Given the description of an element on the screen output the (x, y) to click on. 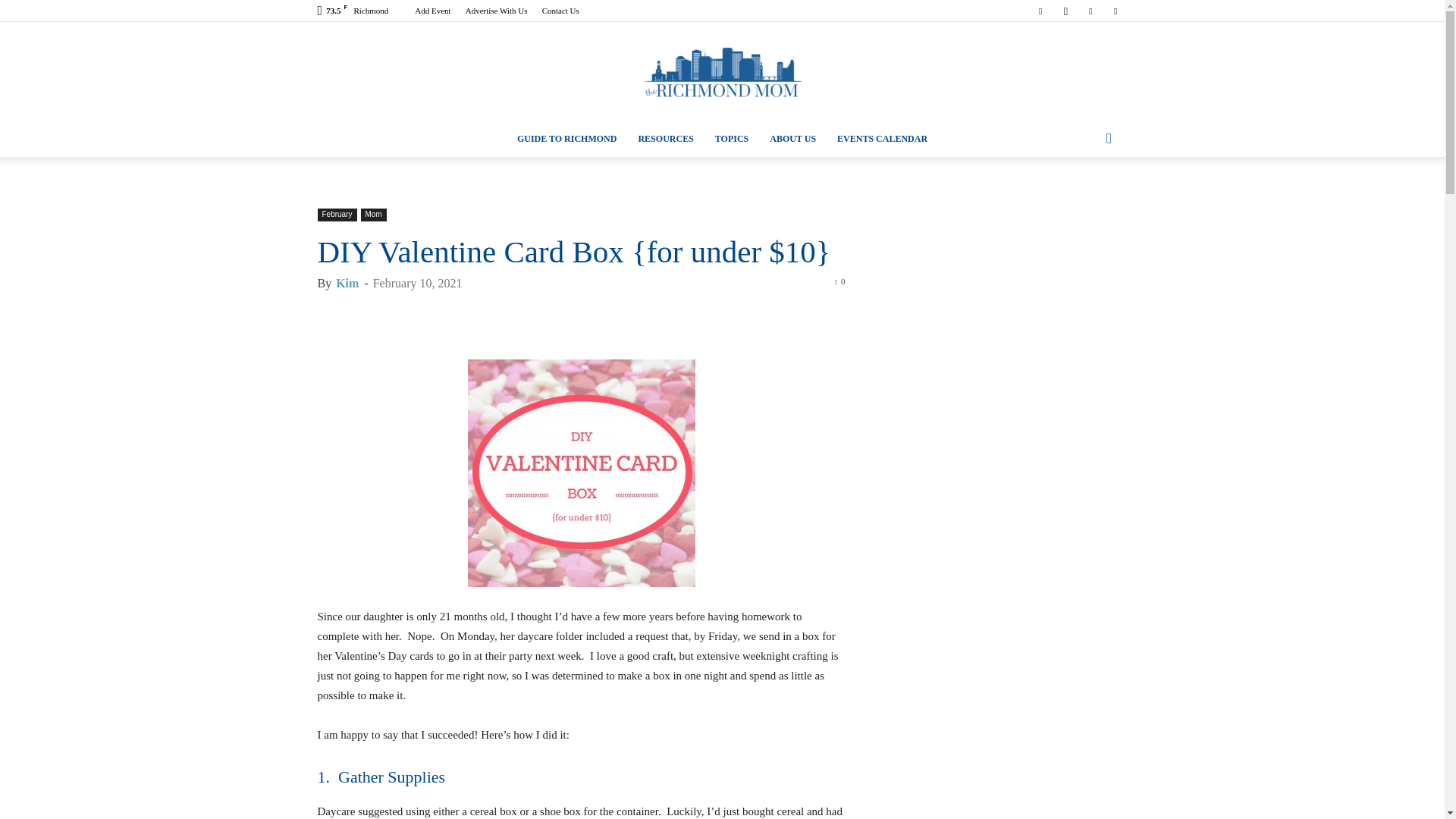
Instagram (1065, 10)
Twitter (1114, 10)
The Richmond Mom (721, 72)
Advertise With Us (496, 10)
Contact Us (560, 10)
Add Event (431, 10)
Facebook (1040, 10)
Pinterest (1090, 10)
